Given the description of an element on the screen output the (x, y) to click on. 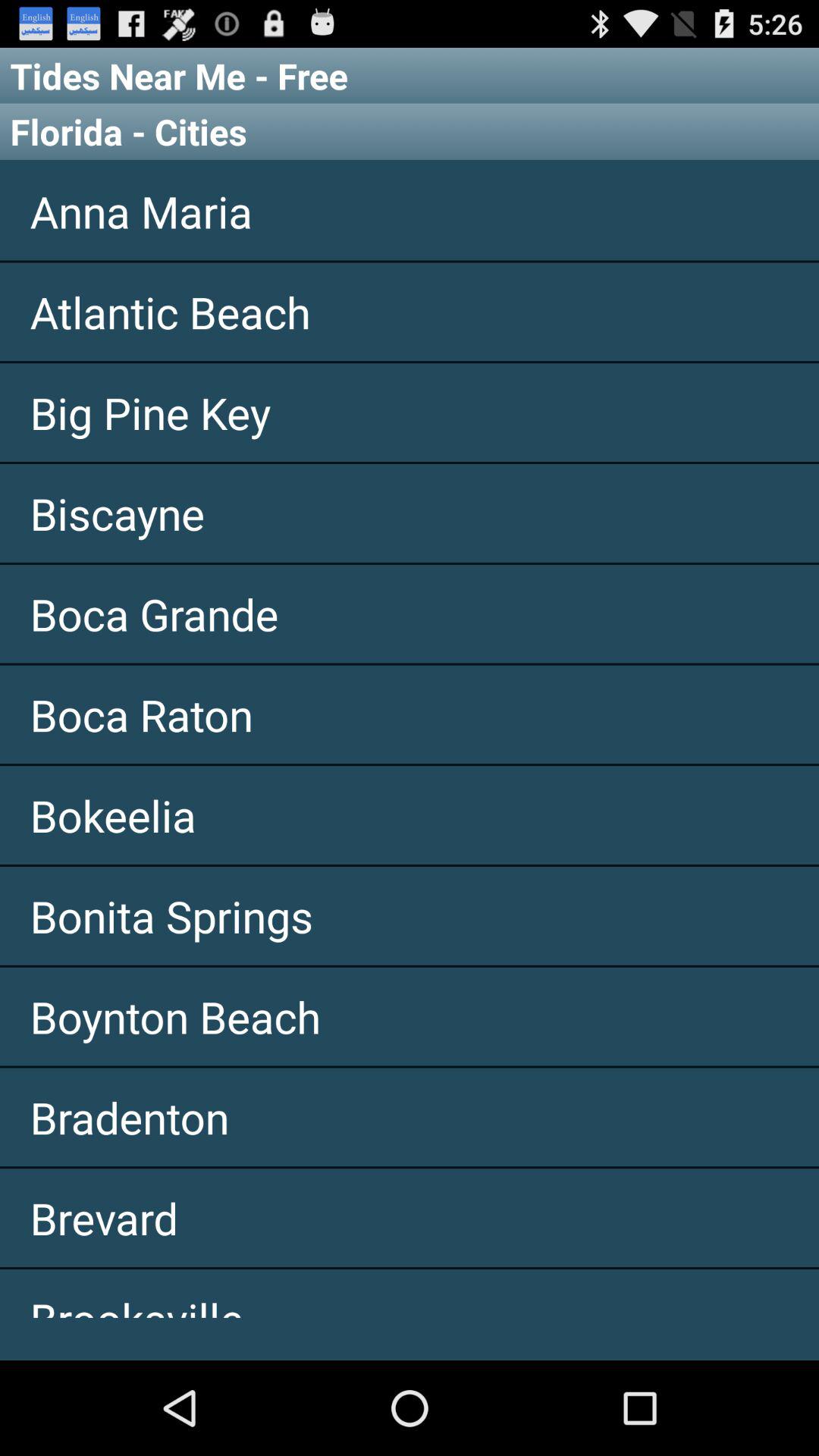
tap app below the boynton beach app (409, 1117)
